Given the description of an element on the screen output the (x, y) to click on. 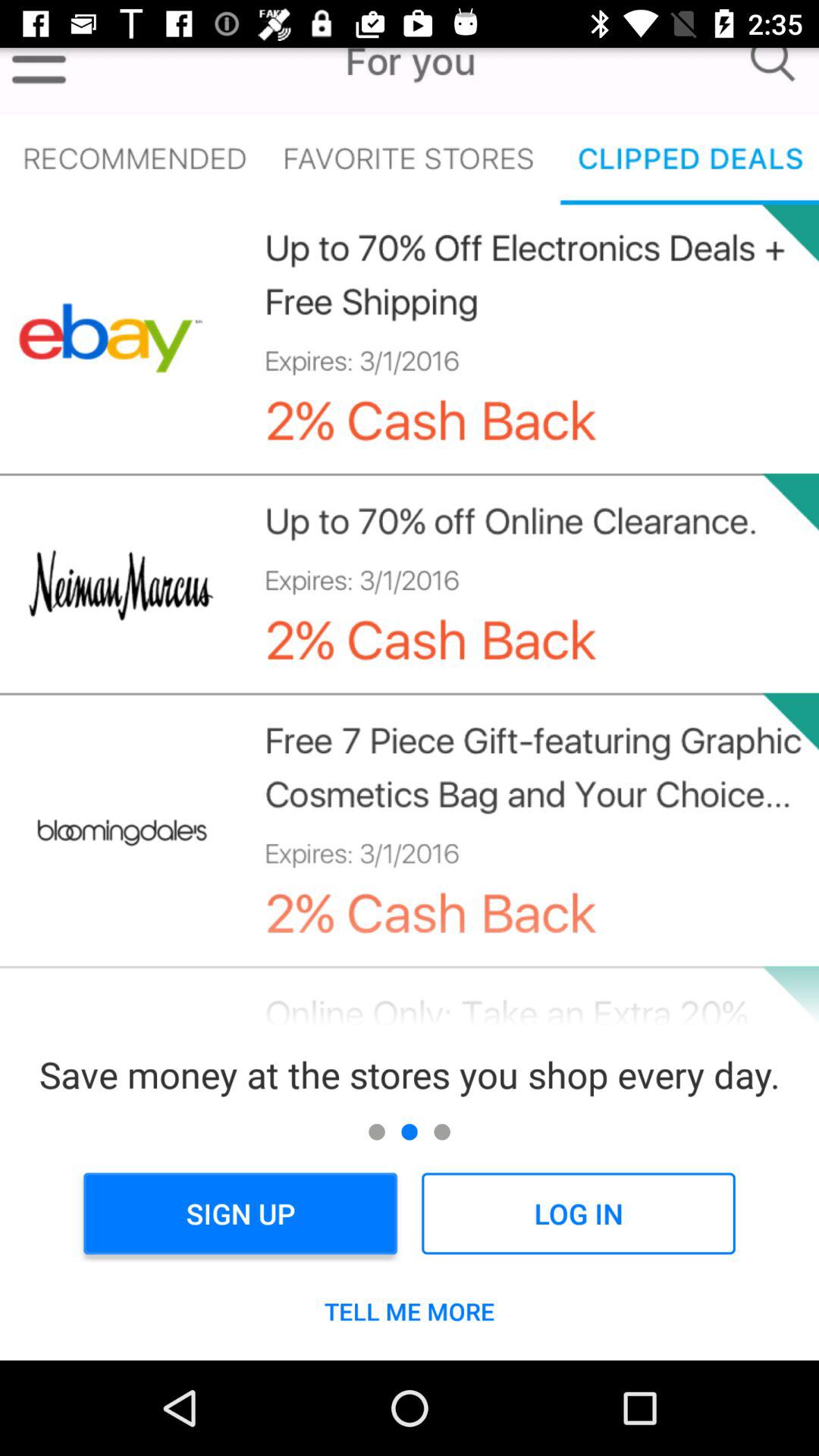
open icon at the bottom right corner (578, 1213)
